Given the description of an element on the screen output the (x, y) to click on. 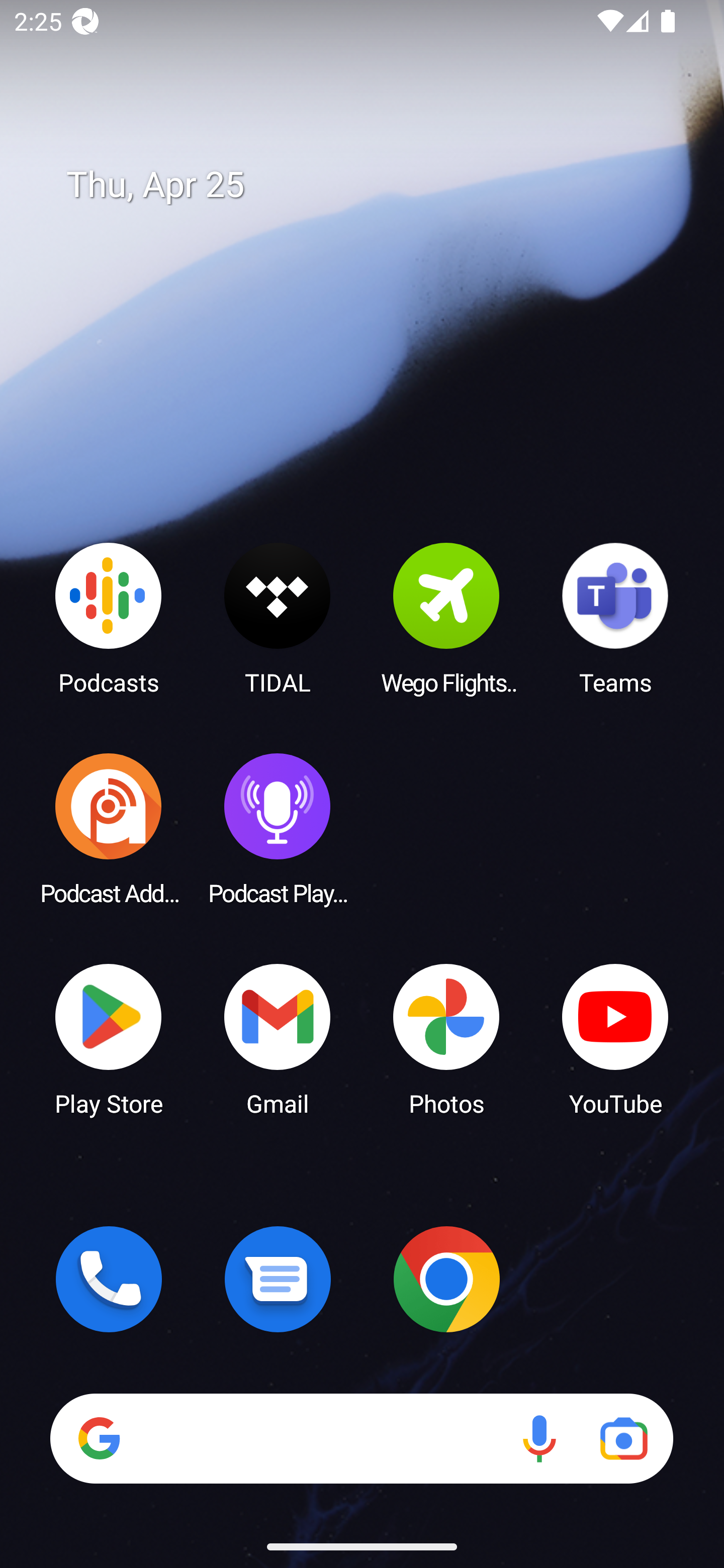
Thu, Apr 25 (375, 184)
Podcasts (108, 617)
TIDAL (277, 617)
Wego Flights & Hotels (445, 617)
Teams (615, 617)
Podcast Addict (108, 828)
Podcast Player (277, 828)
Play Store (108, 1038)
Gmail (277, 1038)
Photos (445, 1038)
YouTube (615, 1038)
Phone (108, 1279)
Messages (277, 1279)
Chrome (446, 1279)
Search Voice search Google Lens (361, 1438)
Voice search (539, 1438)
Google Lens (623, 1438)
